Given the description of an element on the screen output the (x, y) to click on. 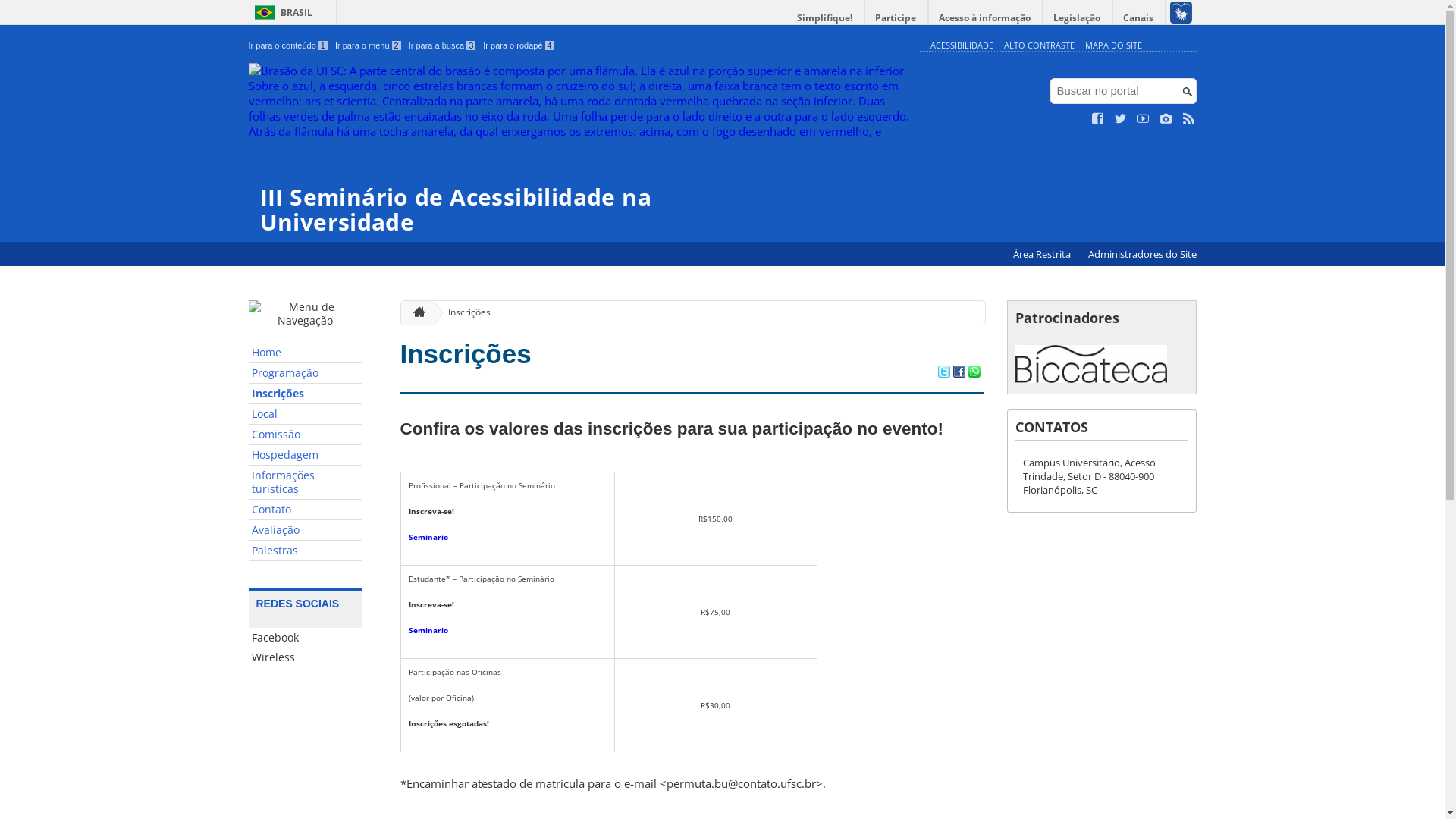
Wireless Element type: text (305, 657)
Compartilhar no WhatsApp Element type: hover (973, 372)
ALTO CONTRASTE Element type: text (1039, 44)
Compartilhar no Twitter Element type: hover (943, 372)
Administradores do Site Element type: text (1141, 253)
BRASIL Element type: text (280, 12)
Biccateca Element type: hover (1090, 363)
Ir para o menu 2 Element type: text (368, 45)
Ir para a busca 3 Element type: text (442, 45)
Palestras Element type: text (305, 550)
Veja no Instagram Element type: hover (1166, 118)
Seminario Element type: text (427, 629)
Local Element type: text (305, 414)
Simplifique! Element type: text (825, 18)
Canais Element type: text (1138, 18)
Facebook Element type: text (305, 637)
Contato Element type: text (305, 509)
Biccateca Element type: hover (1090, 378)
Home Element type: text (305, 352)
ACESSIBILIDADE Element type: text (960, 44)
Curta no Facebook Element type: hover (1098, 118)
Compartilhar no Facebook Element type: hover (958, 372)
Seminario Element type: text (427, 536)
MAPA DO SITE Element type: text (1112, 44)
Siga no Twitter Element type: hover (1120, 118)
Hospedagem Element type: text (305, 455)
Participe Element type: text (895, 18)
